Given the description of an element on the screen output the (x, y) to click on. 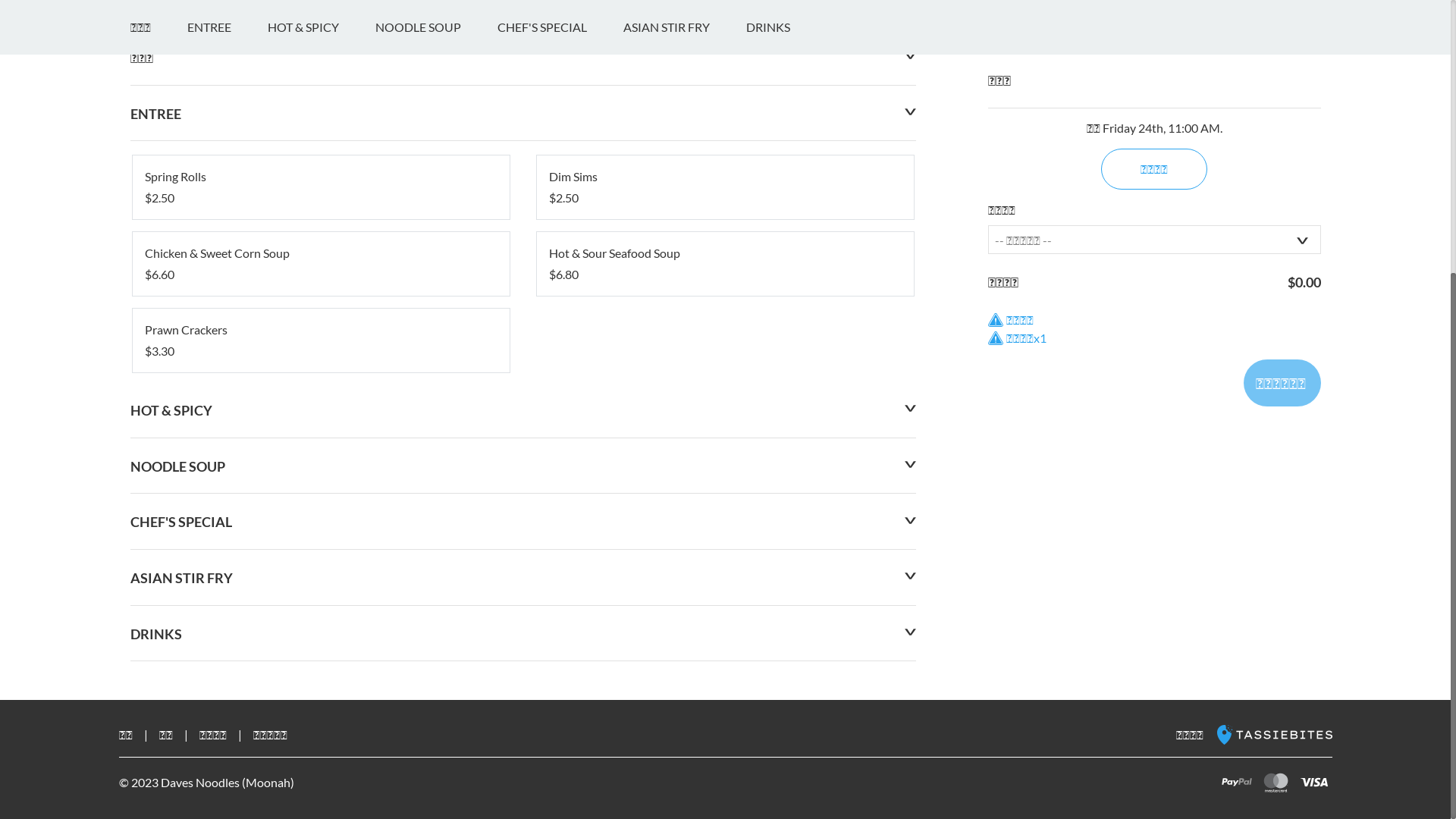
Prawn Crackers
$3.30 Element type: text (320, 749)
Hot & Sour Seafood Soup
$6.80 Element type: text (725, 673)
DRINKS Element type: text (786, 436)
Dim Sims
$2.50 Element type: text (725, 596)
Chicken & Sweet Corn Soup
$6.60 Element type: text (320, 673)
4.1 Element type: text (146, 278)
Chicken & Sweet Corn Soup
$6.60 Element type: text (320, 673)
CHEF'S SPECIAL Element type: text (560, 436)
ENTREE Element type: text (226, 436)
Hot & Sour Seafood Soup
$6.80 Element type: text (725, 673)
ASIAN STIR FRY Element type: text (684, 436)
Dim Sims
$2.50 Element type: text (725, 596)
HOT & SPICY Element type: text (320, 436)
Spring Rolls
$2.50 Element type: text (320, 596)
NOODLE SOUP Element type: text (435, 436)
Spring Rolls
$2.50 Element type: text (320, 596)
Daves Noodles (Moonah) Element type: text (279, 223)
EN Element type: text (138, 16)
Prawn Crackers
$3.30 Element type: text (320, 749)
